Given the description of an element on the screen output the (x, y) to click on. 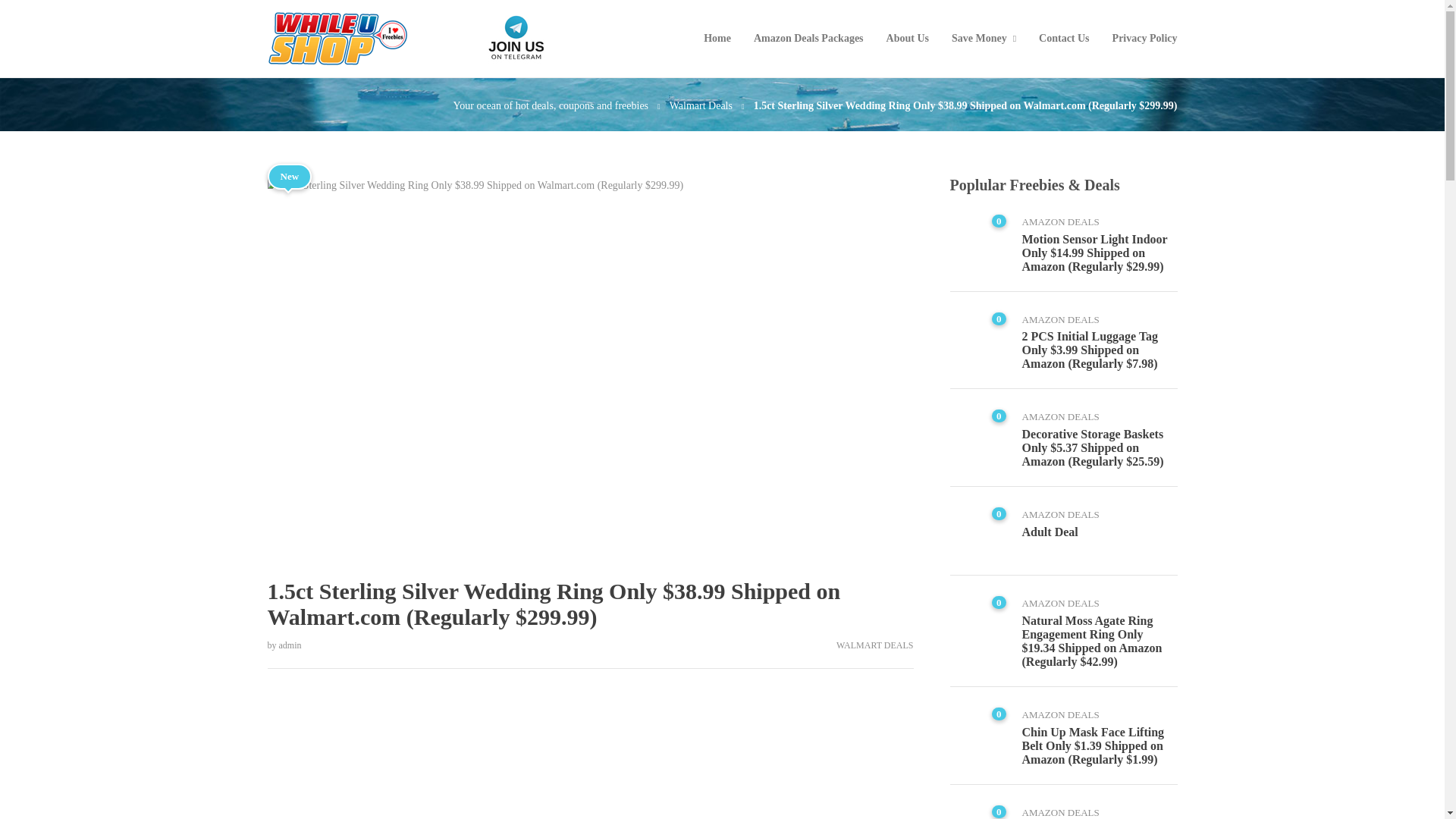
Your ocean of hot deals, coupons and freebies (550, 105)
Walmart Deals (700, 105)
Amazon Deals Packages (808, 38)
admin (290, 644)
WALMART DEALS (873, 644)
Your ocean of hot deals, coupons and freebies (550, 105)
